Given the description of an element on the screen output the (x, y) to click on. 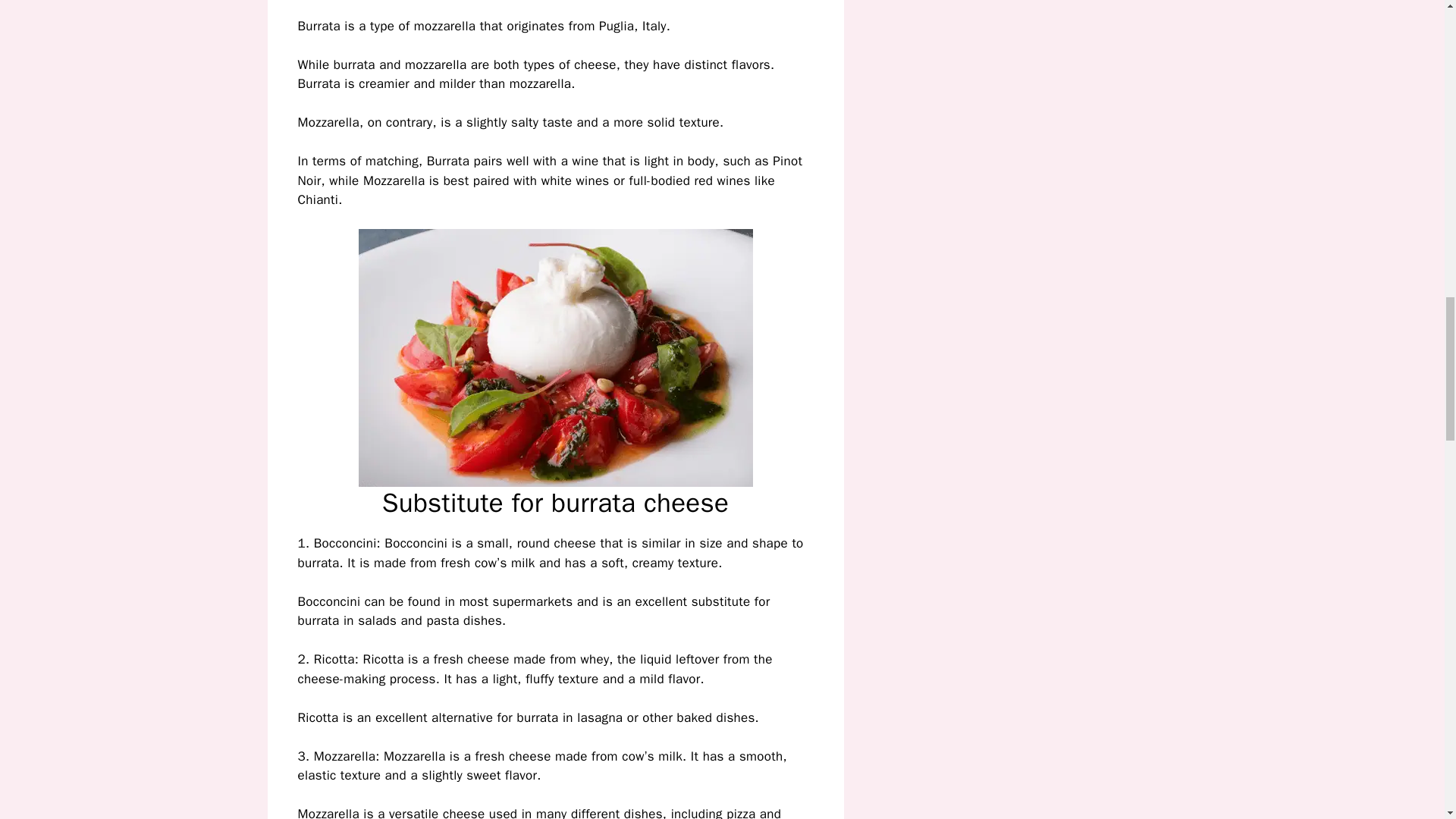
What does burrata cheese taste like- fizzy or Sour 2 (555, 357)
